Given the description of an element on the screen output the (x, y) to click on. 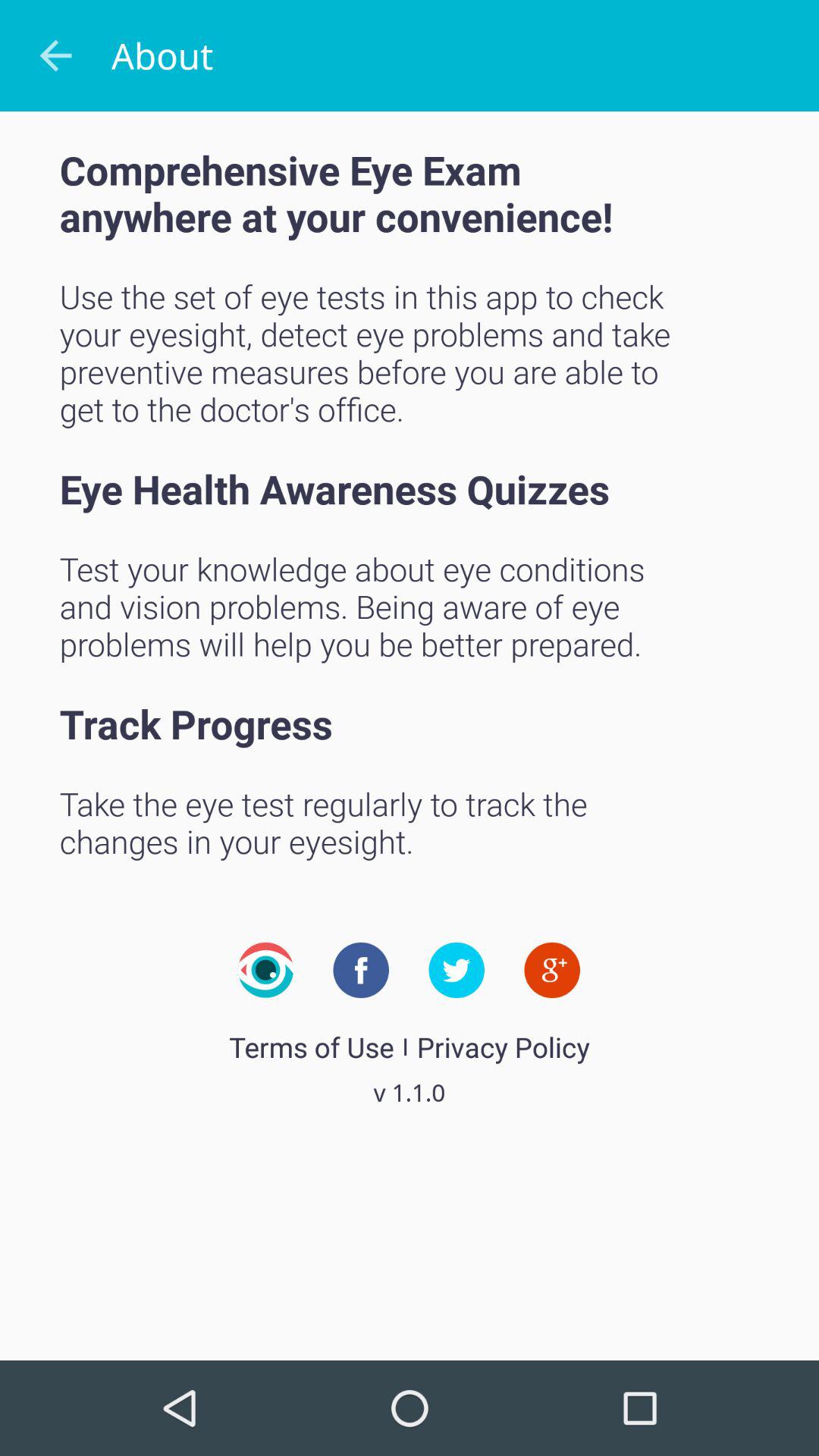
share via google plus (552, 970)
